Given the description of an element on the screen output the (x, y) to click on. 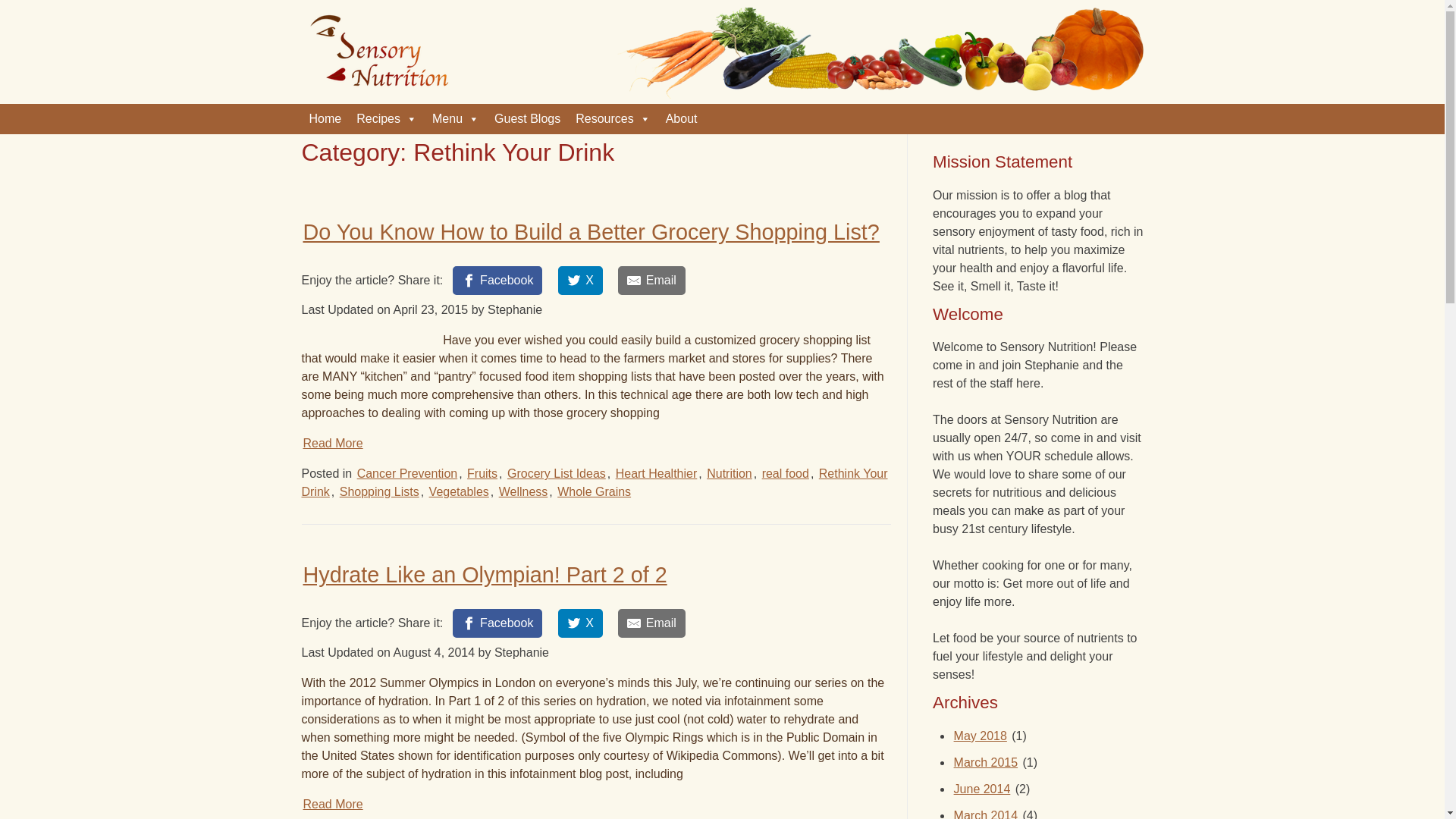
Grocery List Ideas (556, 473)
X (579, 280)
Do You Know How to Build a Better Grocery Shopping List? (590, 231)
Vegetables (459, 491)
Menu (455, 119)
Shopping Lists (378, 491)
Cancer Prevention (407, 473)
Wellness (523, 491)
Facebook (497, 280)
